Given the description of an element on the screen output the (x, y) to click on. 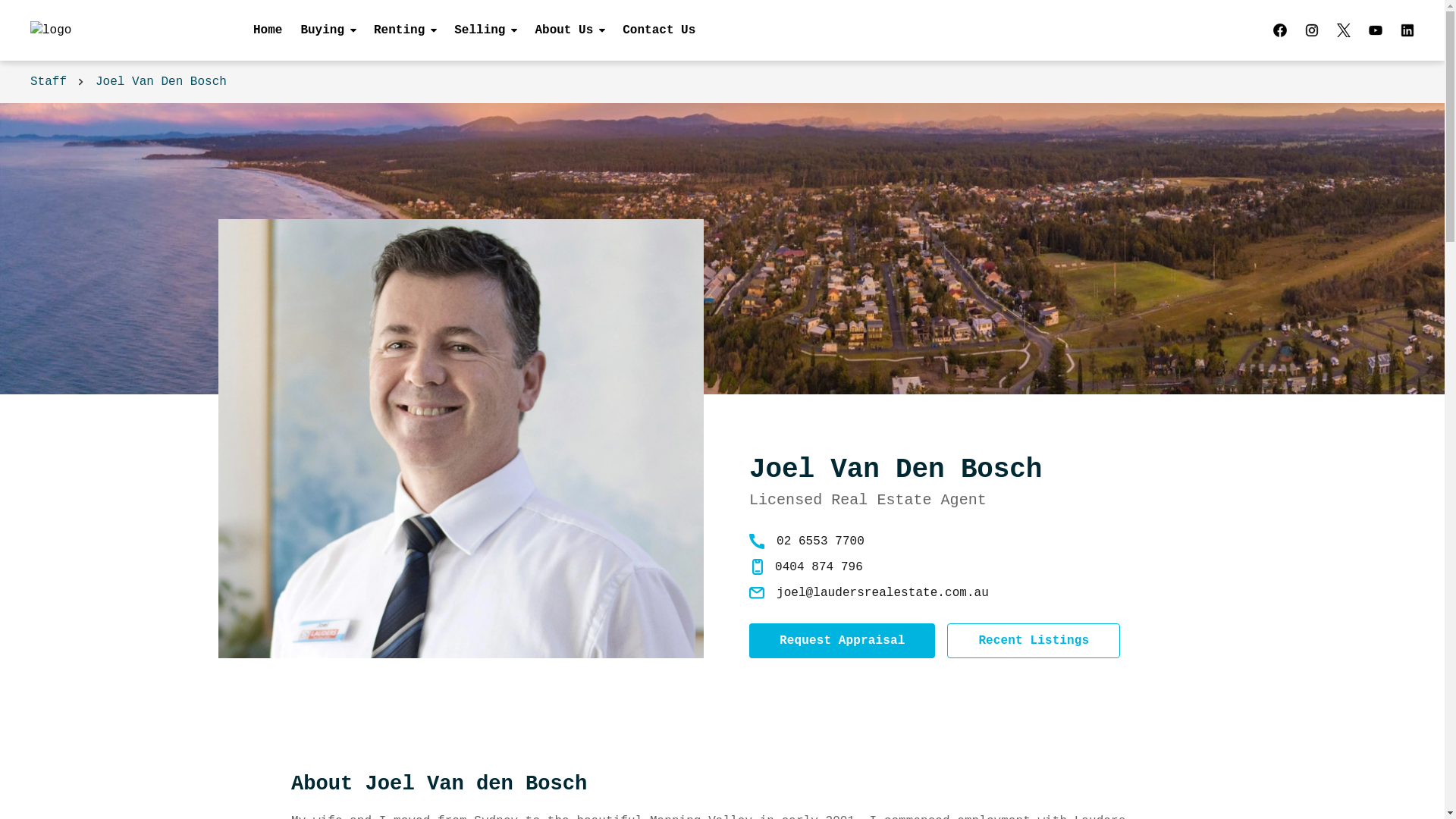
joel@laudersrealestate.com.au Element type: text (882, 592)
Home Element type: text (267, 30)
Recent Listings Element type: text (1033, 640)
02 6553 7700 Element type: text (820, 541)
Request Appraisal Element type: text (842, 640)
Contact Us Element type: text (654, 30)
Staff Element type: text (48, 81)
0404 874 796 Element type: text (818, 567)
Request Appraisal Element type: text (841, 640)
Recent Listings Element type: text (1033, 640)
Joel Van Den Bosch Element type: text (160, 81)
